Given the description of an element on the screen output the (x, y) to click on. 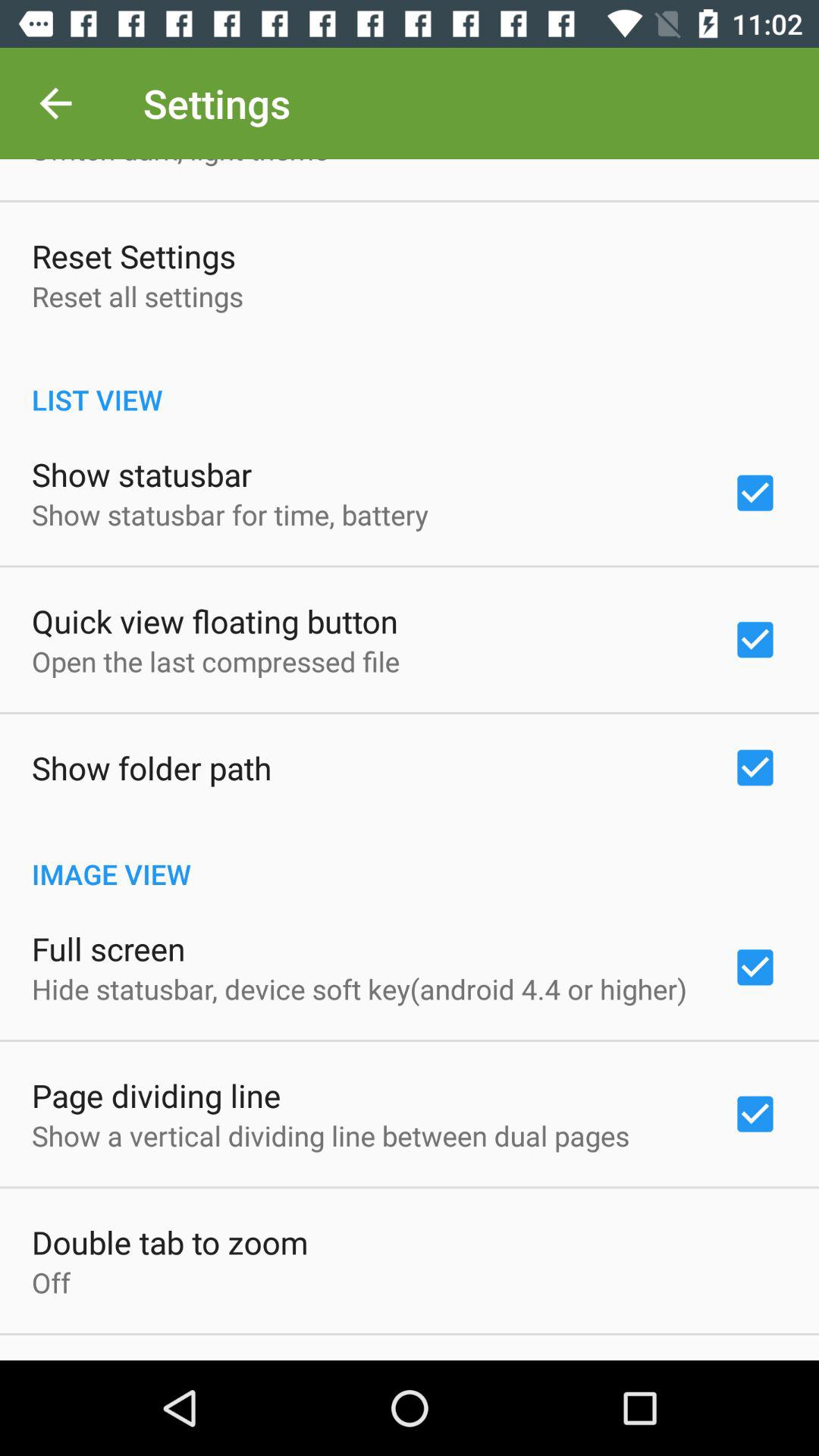
press the quick view floating (214, 620)
